Given the description of an element on the screen output the (x, y) to click on. 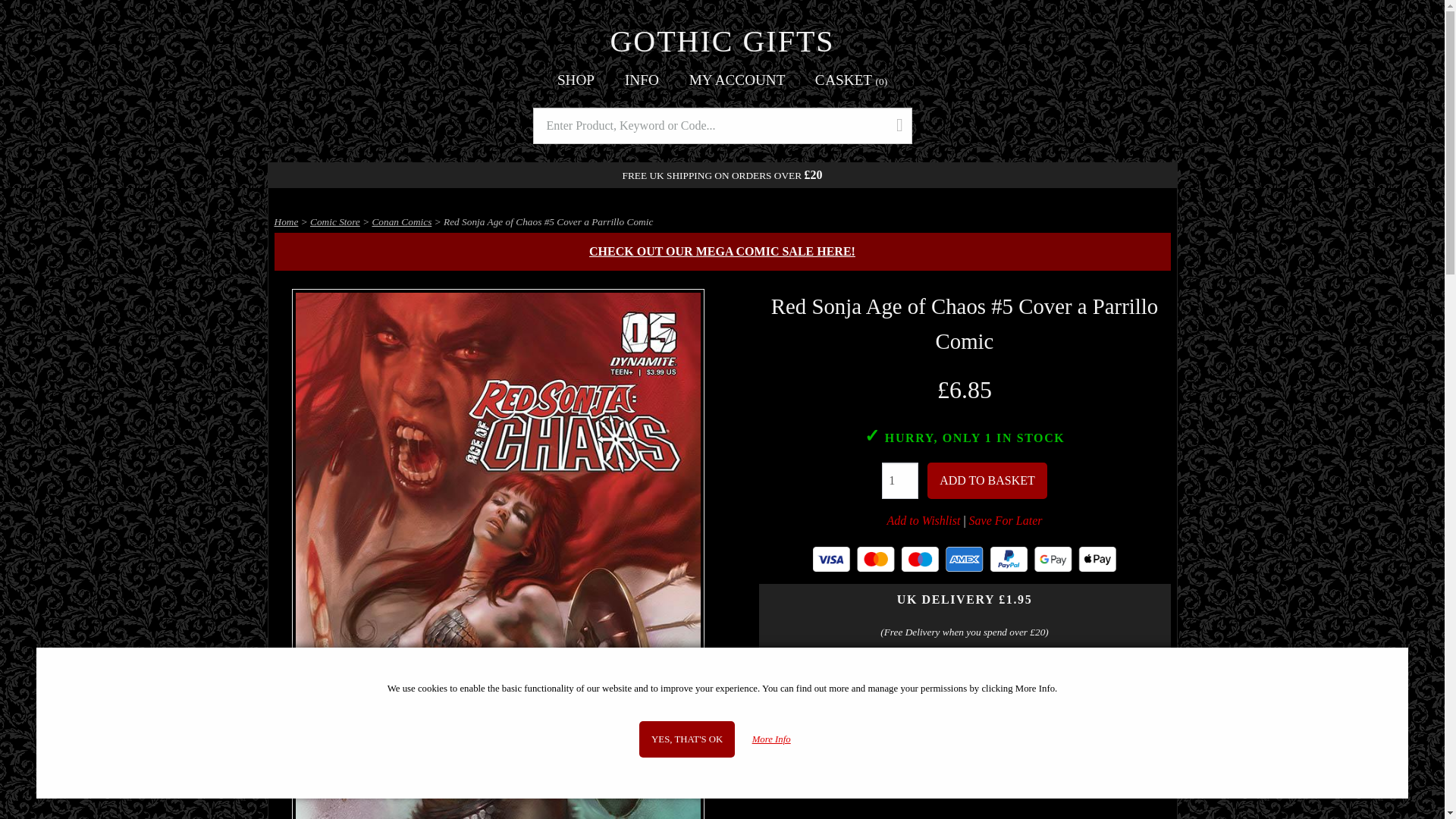
1 (900, 480)
GOTHIC GIFTS (722, 41)
SHOP (575, 80)
